Given the description of an element on the screen output the (x, y) to click on. 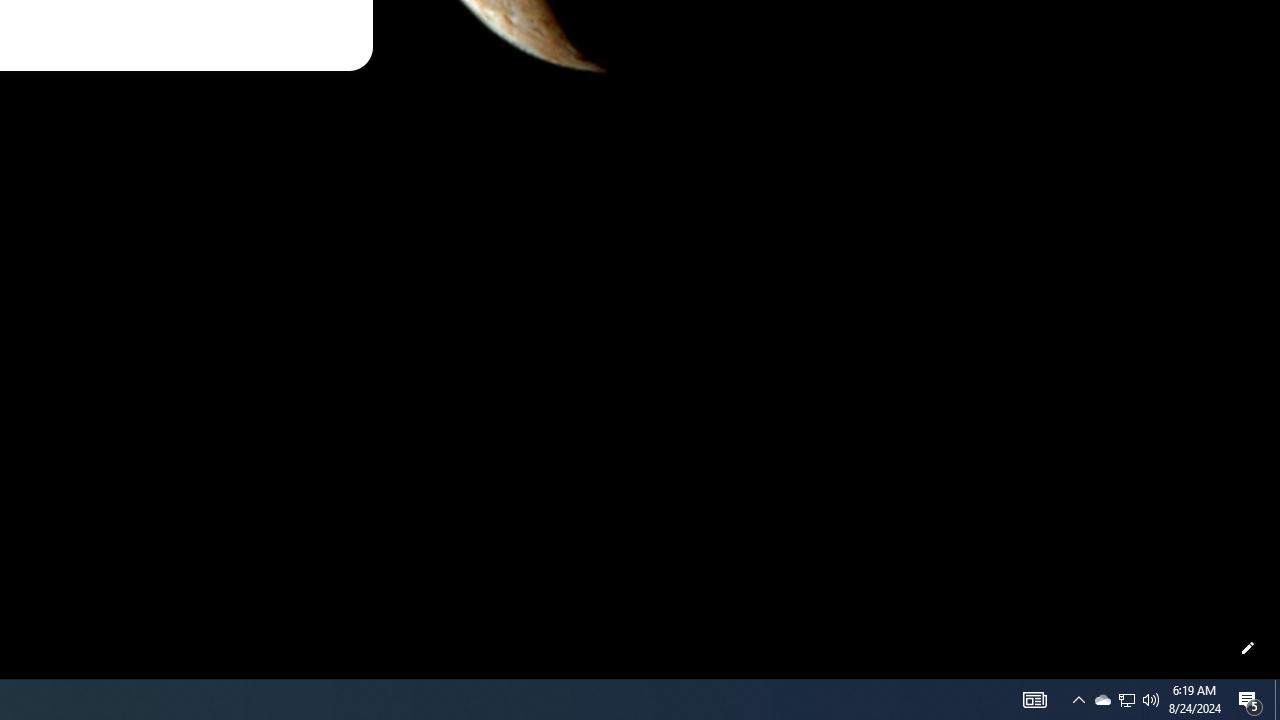
Customize this page (1247, 647)
